Given the description of an element on the screen output the (x, y) to click on. 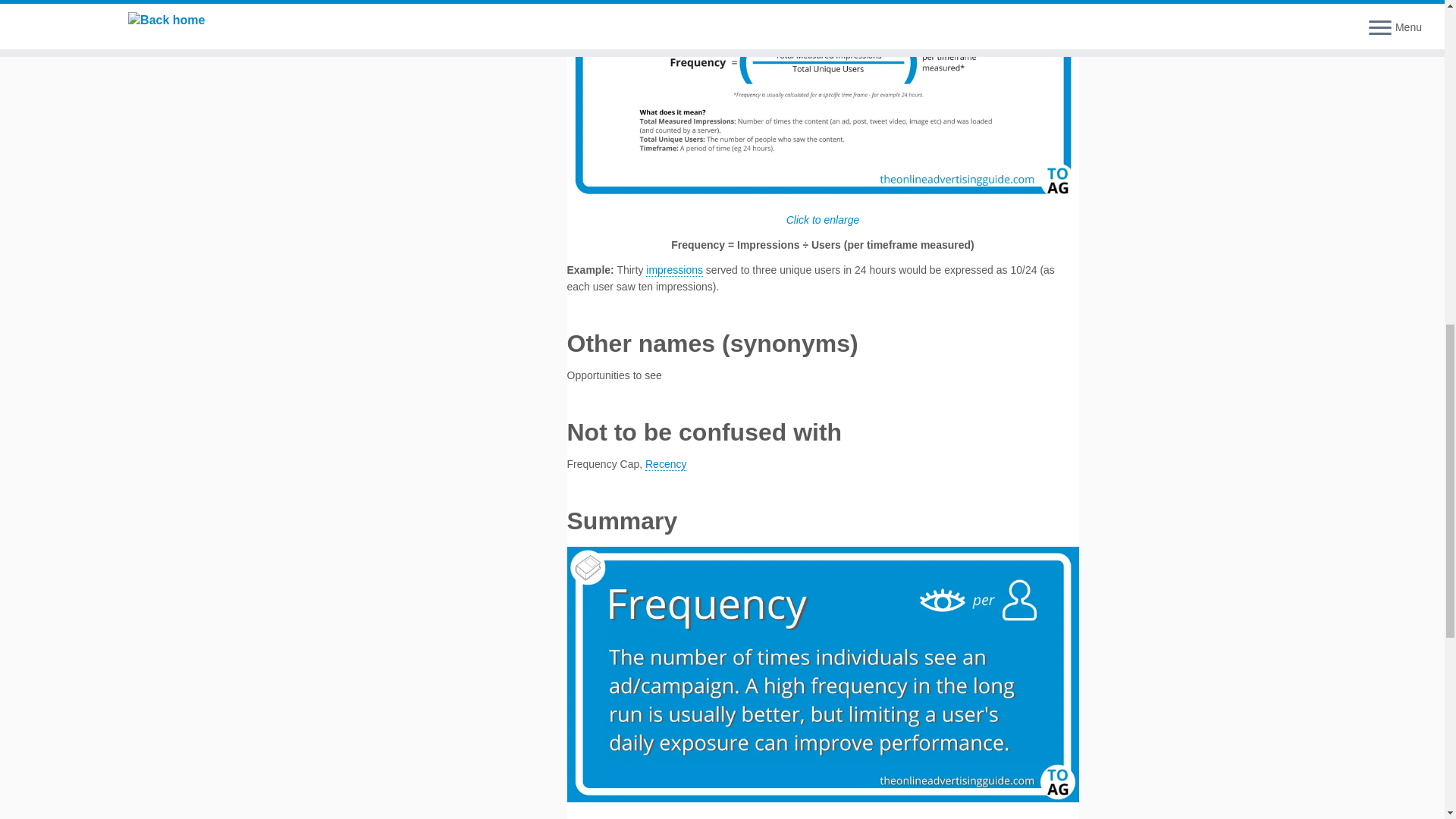
impressions (674, 269)
Click to enlarge (822, 113)
Recency (665, 463)
